Given the description of an element on the screen output the (x, y) to click on. 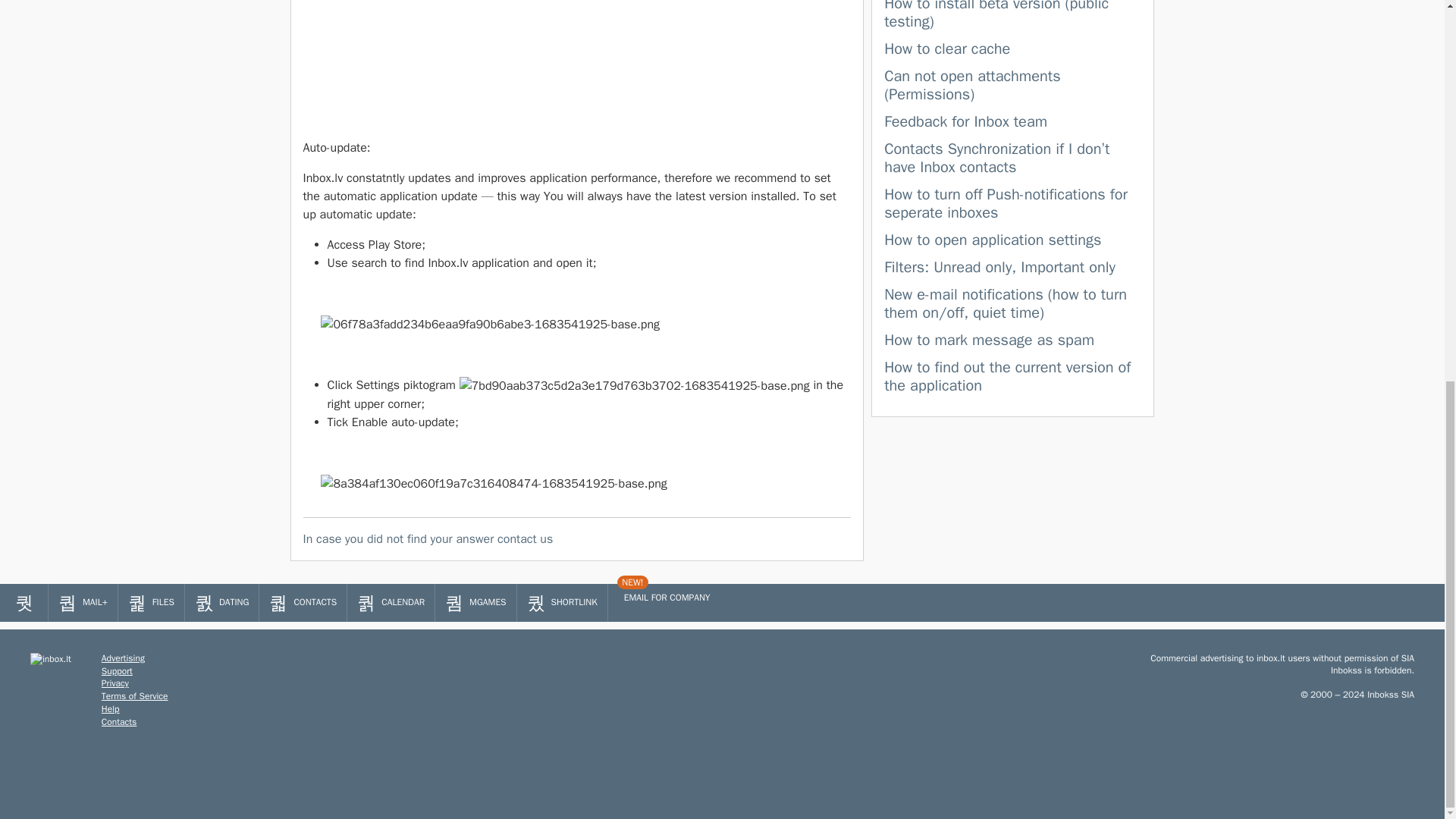
DATING (221, 602)
In case you did not find your answer contact us (576, 538)
How to find out the current version of the application (1007, 375)
CONTACTS (302, 602)
How to turn off Push-notifications for seperate inboxes (1004, 203)
How to clear cache (946, 48)
FILES (150, 602)
How to mark message as spam (988, 339)
SHORTLINK (561, 602)
MGAMES (475, 602)
Feedback for Inbox team (964, 121)
How to open application settings (991, 239)
EMAIL FOR COMPANY (664, 596)
Filters: Unread only, Important only (999, 266)
CALENDAR (390, 602)
